Given the description of an element on the screen output the (x, y) to click on. 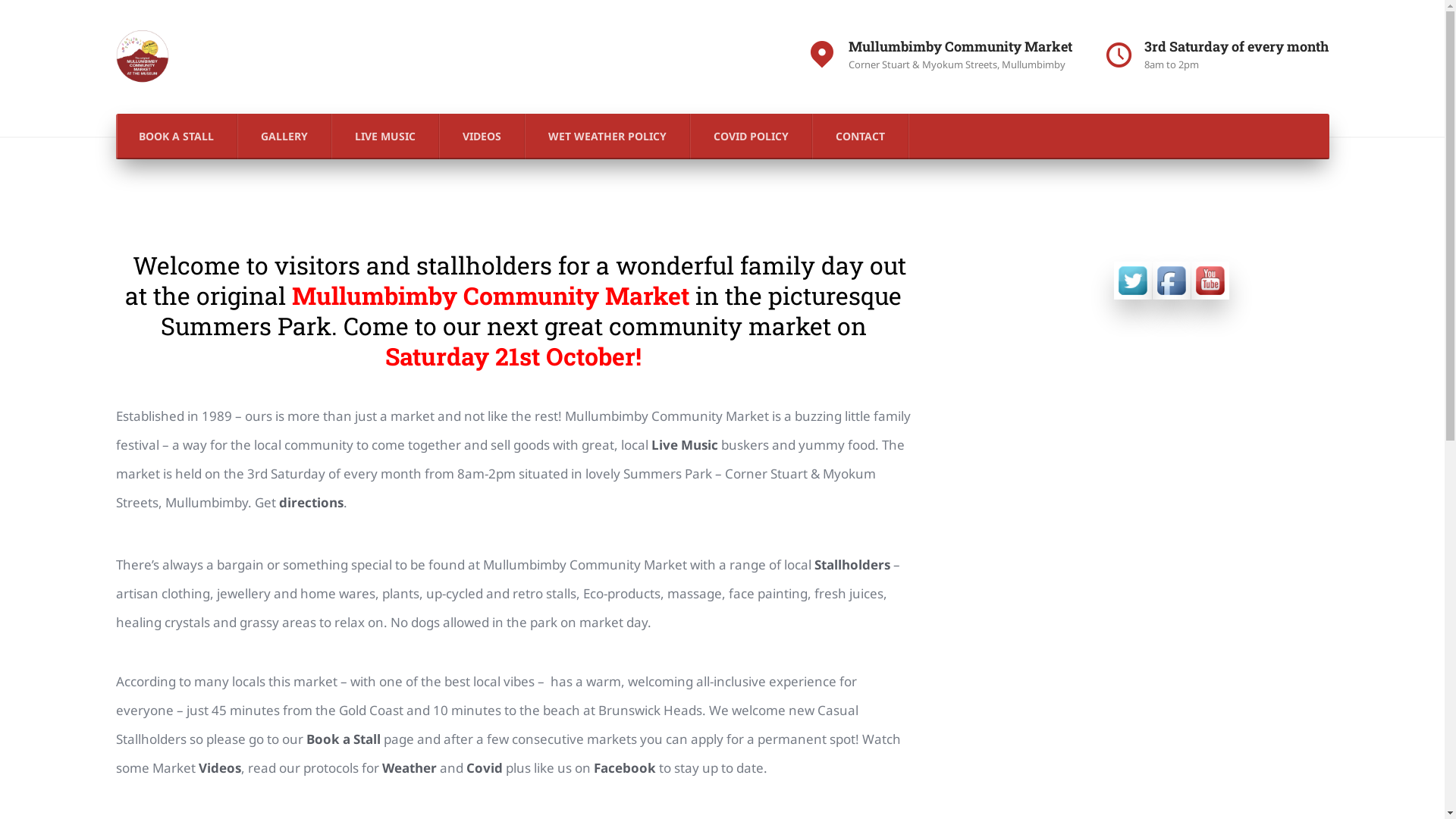
Visit Us On Facebook Element type: hover (1170, 279)
WET WEATHER POLICY Element type: text (606, 136)
Live Music Element type: text (683, 444)
LIVE MUSIC Element type: text (385, 136)
Facebook Element type: text (624, 767)
Videos Element type: text (219, 767)
Book a Stall Element type: text (343, 738)
Visit Us On Youtube Element type: hover (1209, 279)
directions Element type: text (311, 502)
COVID POLICY Element type: text (750, 136)
VIDEOS Element type: text (481, 136)
Visit Us On Twitter Element type: hover (1132, 279)
Weather Element type: text (409, 767)
Stallholders Element type: text (852, 564)
BOOK A STALL Element type: text (175, 136)
CONTACT Element type: text (860, 136)
Covid Element type: text (483, 767)
GALLERY Element type: text (284, 136)
